Given the description of an element on the screen output the (x, y) to click on. 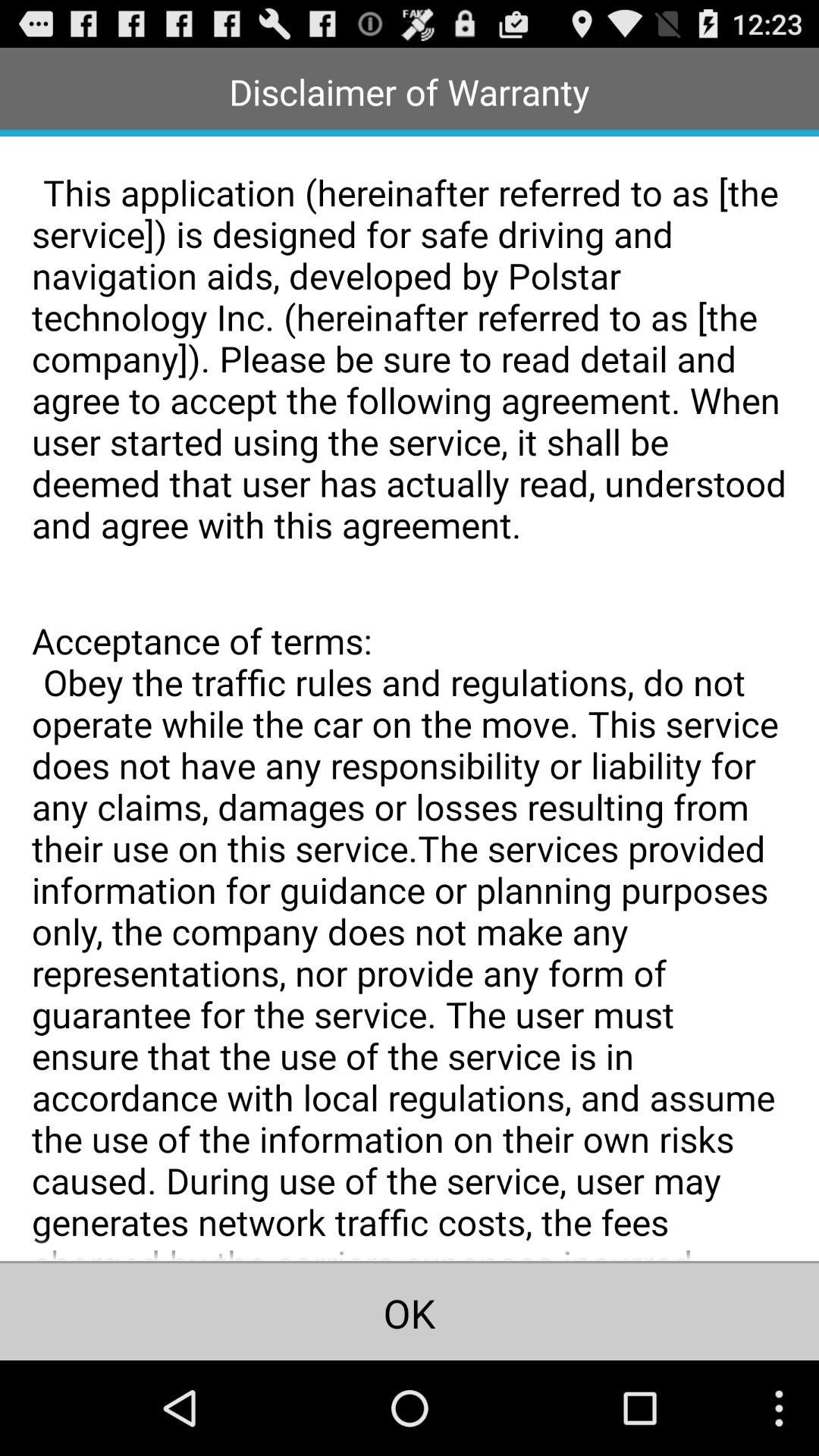
jump until ok (409, 1311)
